Given the description of an element on the screen output the (x, y) to click on. 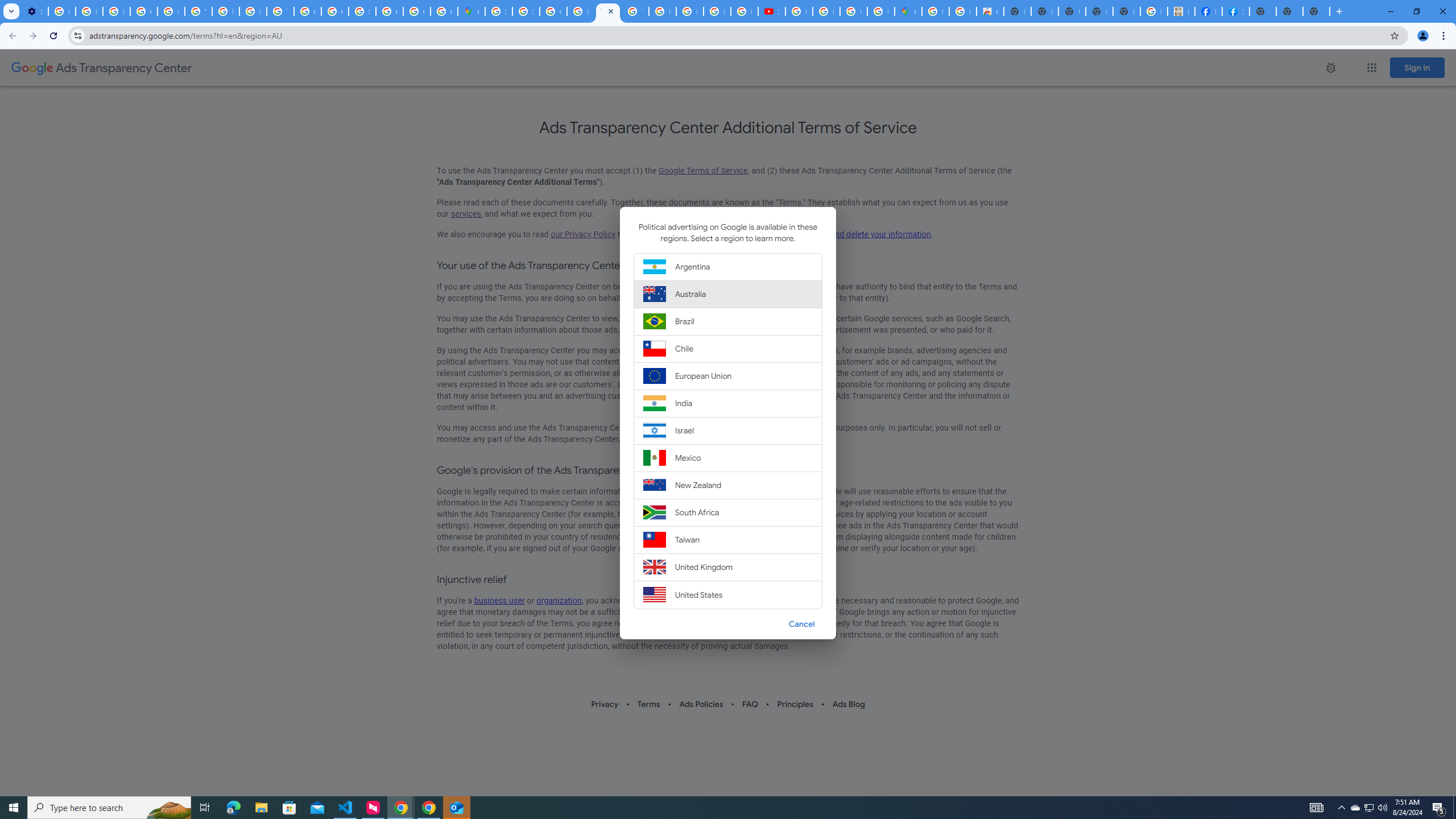
Terms and Conditions (634, 11)
services (464, 213)
South Africa (727, 512)
How Chrome protects your passwords - Google Chrome Help (799, 11)
Privacy Help Center - Policies Help (170, 11)
Google Maps (908, 11)
YouTube (197, 11)
Blogger Policies and Guidelines - Transparency Center (662, 11)
Settings - Customize profile (34, 11)
